Given the description of an element on the screen output the (x, y) to click on. 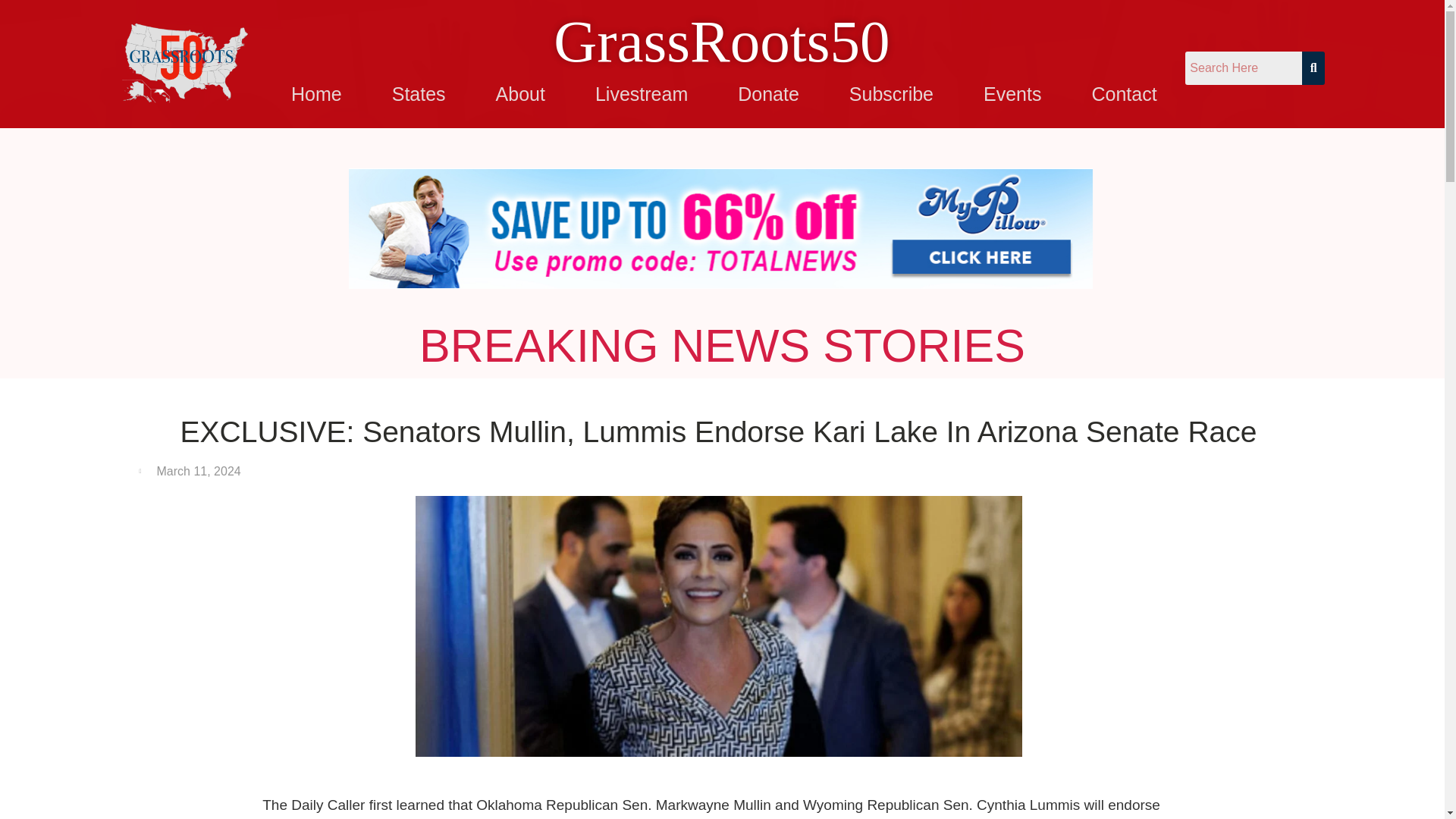
Search (1243, 68)
About (520, 93)
Donate (767, 93)
Livestream (641, 93)
Subscribe (890, 93)
Home (316, 93)
March 11, 2024 (190, 471)
Contact (1123, 93)
States (419, 93)
Events (1011, 93)
